Given the description of an element on the screen output the (x, y) to click on. 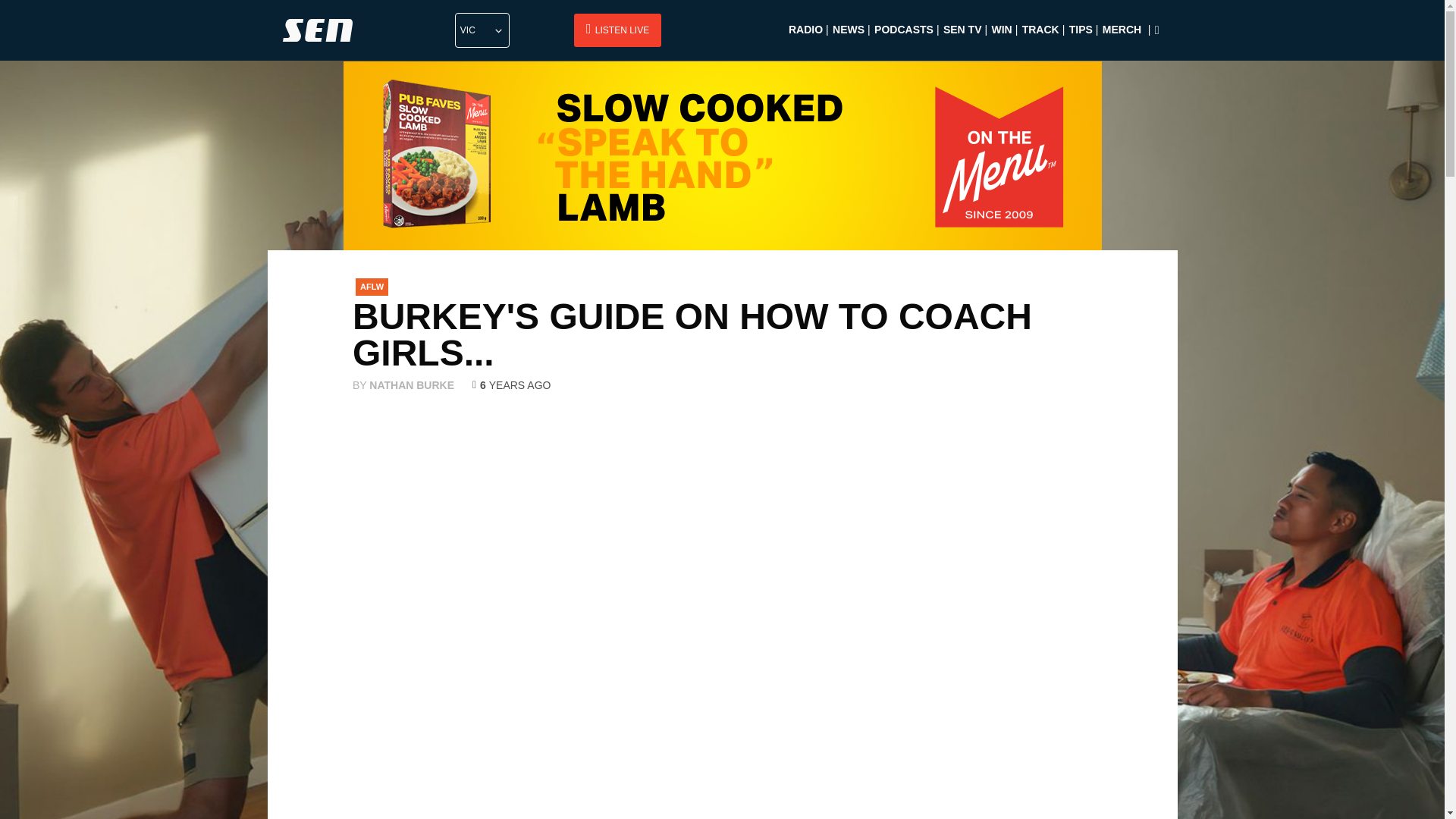
VIC (481, 30)
RADIO (805, 37)
LISTEN LIVE (617, 30)
NEWS (848, 37)
